Given the description of an element on the screen output the (x, y) to click on. 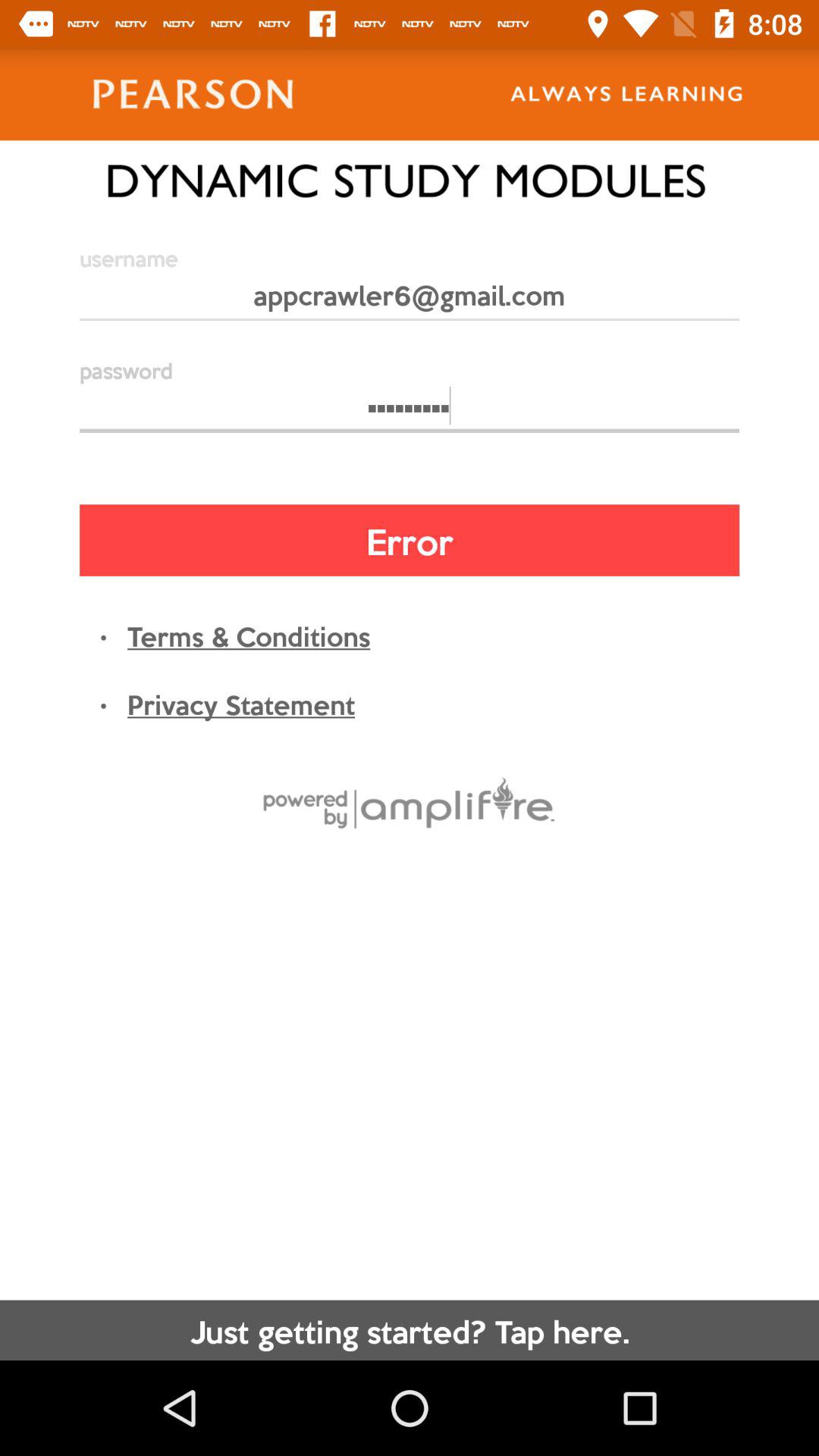
open the item above the privacy statement item (248, 634)
